Given the description of an element on the screen output the (x, y) to click on. 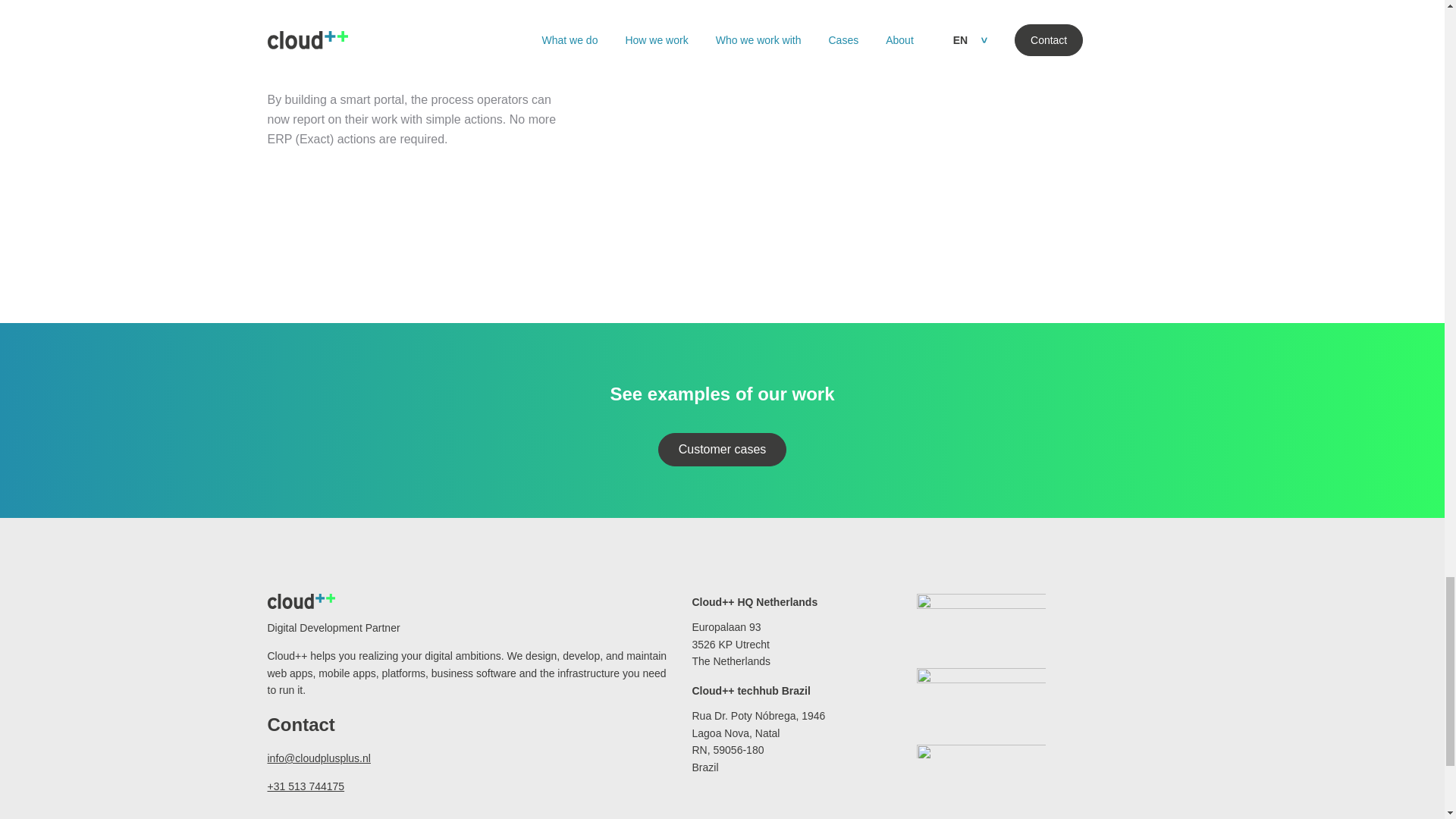
Customer cases (722, 449)
